Given the description of an element on the screen output the (x, y) to click on. 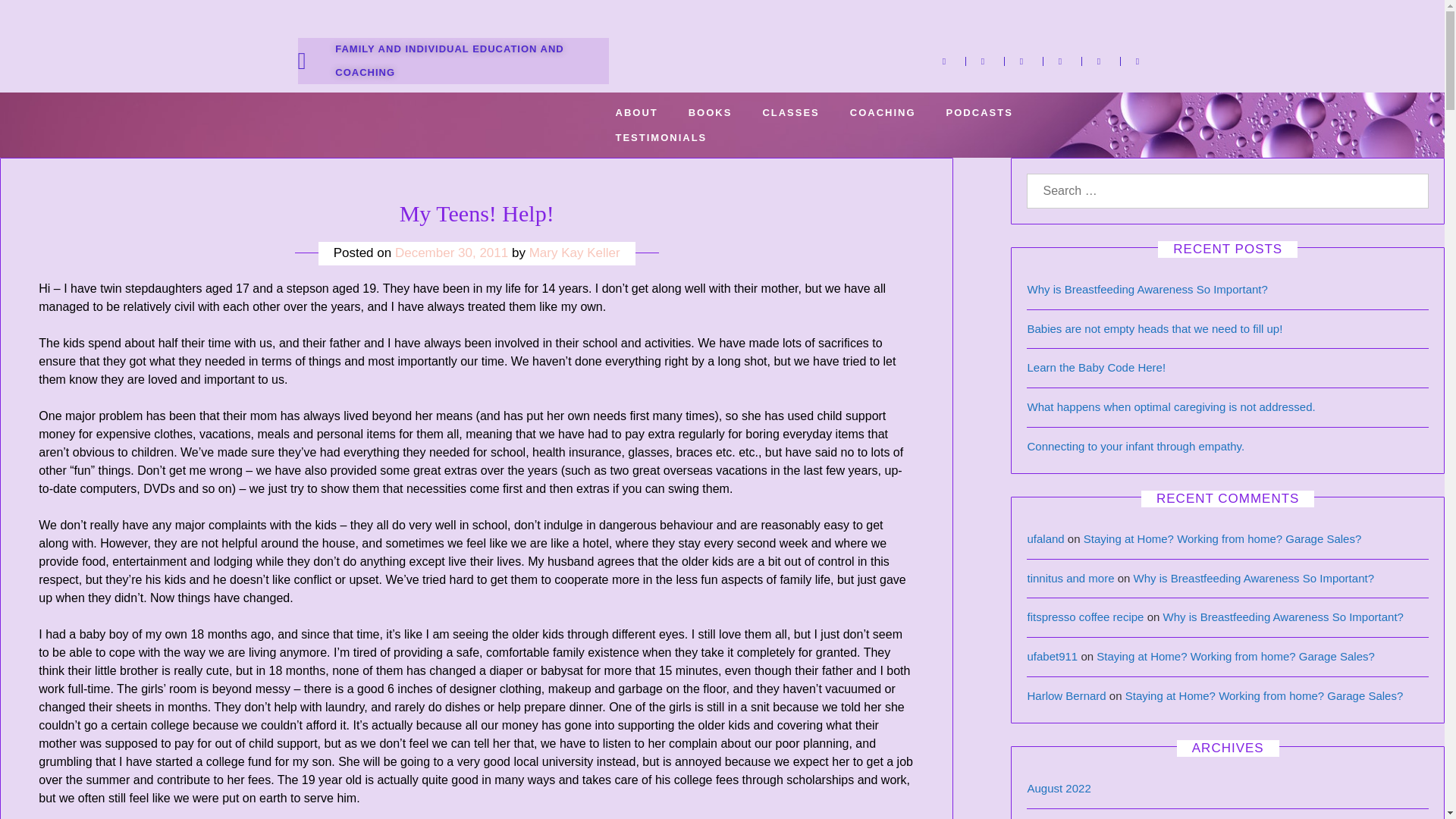
Learn the Baby Code Here! (1096, 367)
What happens when optimal caregiving is not addressed. (1170, 406)
TESTIMONIALS (660, 137)
tinnitus and more (1069, 577)
ufabet911 (1051, 656)
ufaland (1045, 538)
BOOKS (710, 112)
Connecting to your infant through empathy. (1135, 445)
ABOUT (635, 112)
Why is Breastfeeding Awareness So Important? (1254, 577)
